Given the description of an element on the screen output the (x, y) to click on. 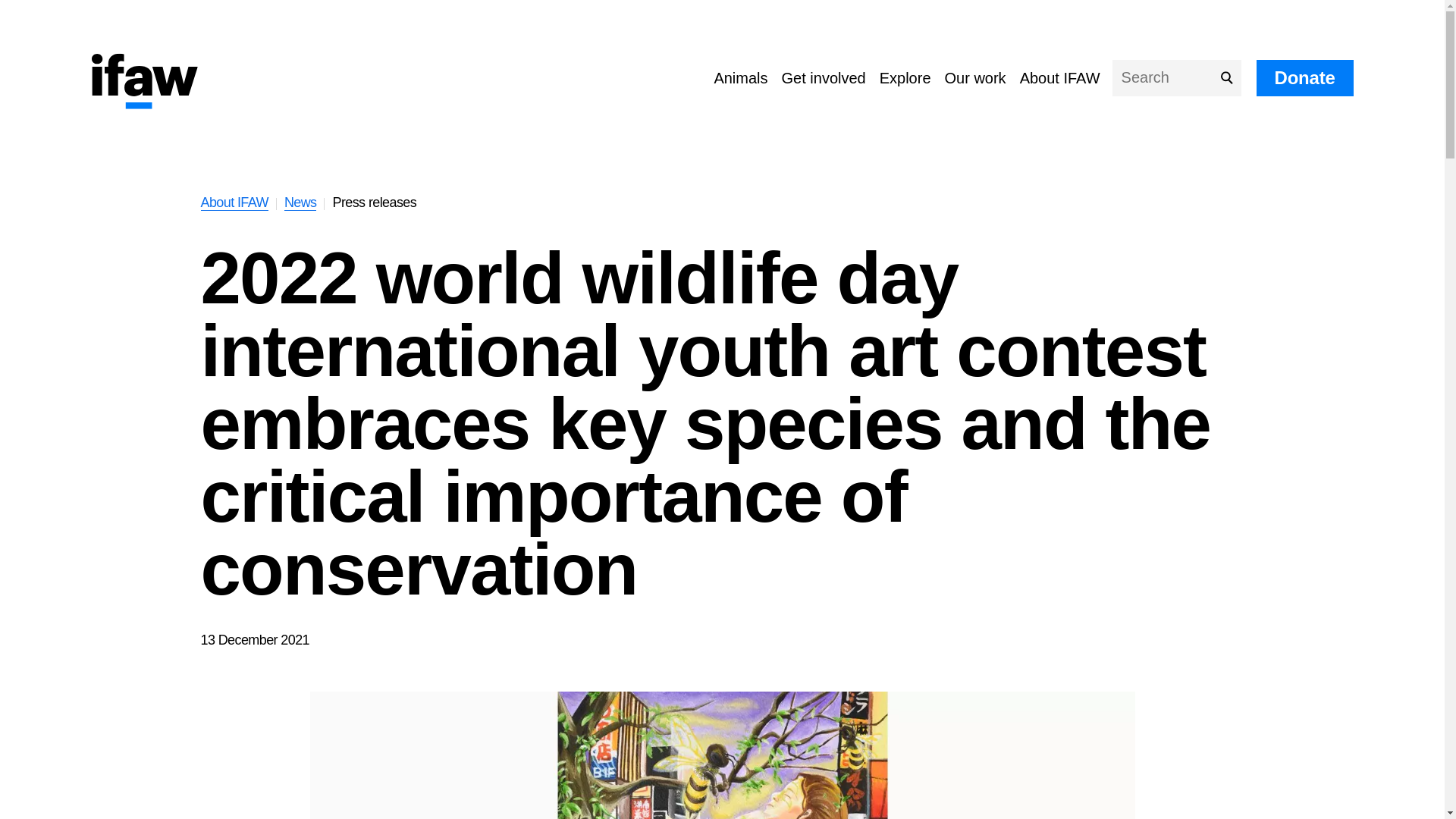
Donate (1305, 77)
Animals (739, 77)
News (300, 202)
Our work (975, 77)
About IFAW (233, 202)
Get involved (823, 77)
About IFAW (1059, 77)
Explore (905, 77)
